Given the description of an element on the screen output the (x, y) to click on. 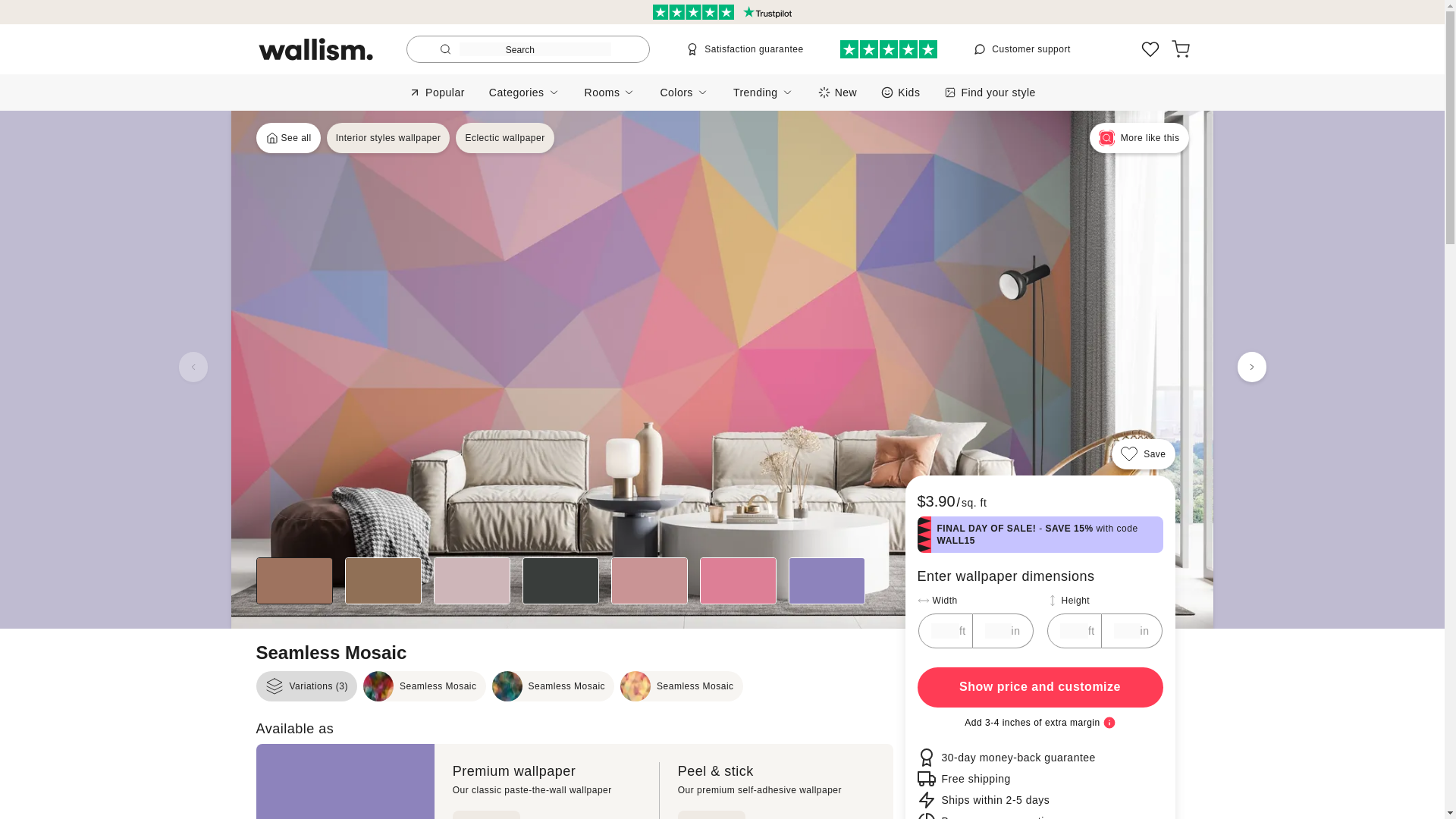
Popular (436, 91)
Kids (900, 91)
See all (288, 137)
New (504, 137)
Customer support (837, 91)
Seamless Mosaic (1022, 49)
Seamless Mosaic (553, 685)
Satisfaction guarantee (424, 685)
Show price and customize (744, 49)
Seamless Mosaic (1040, 687)
